Given the description of an element on the screen output the (x, y) to click on. 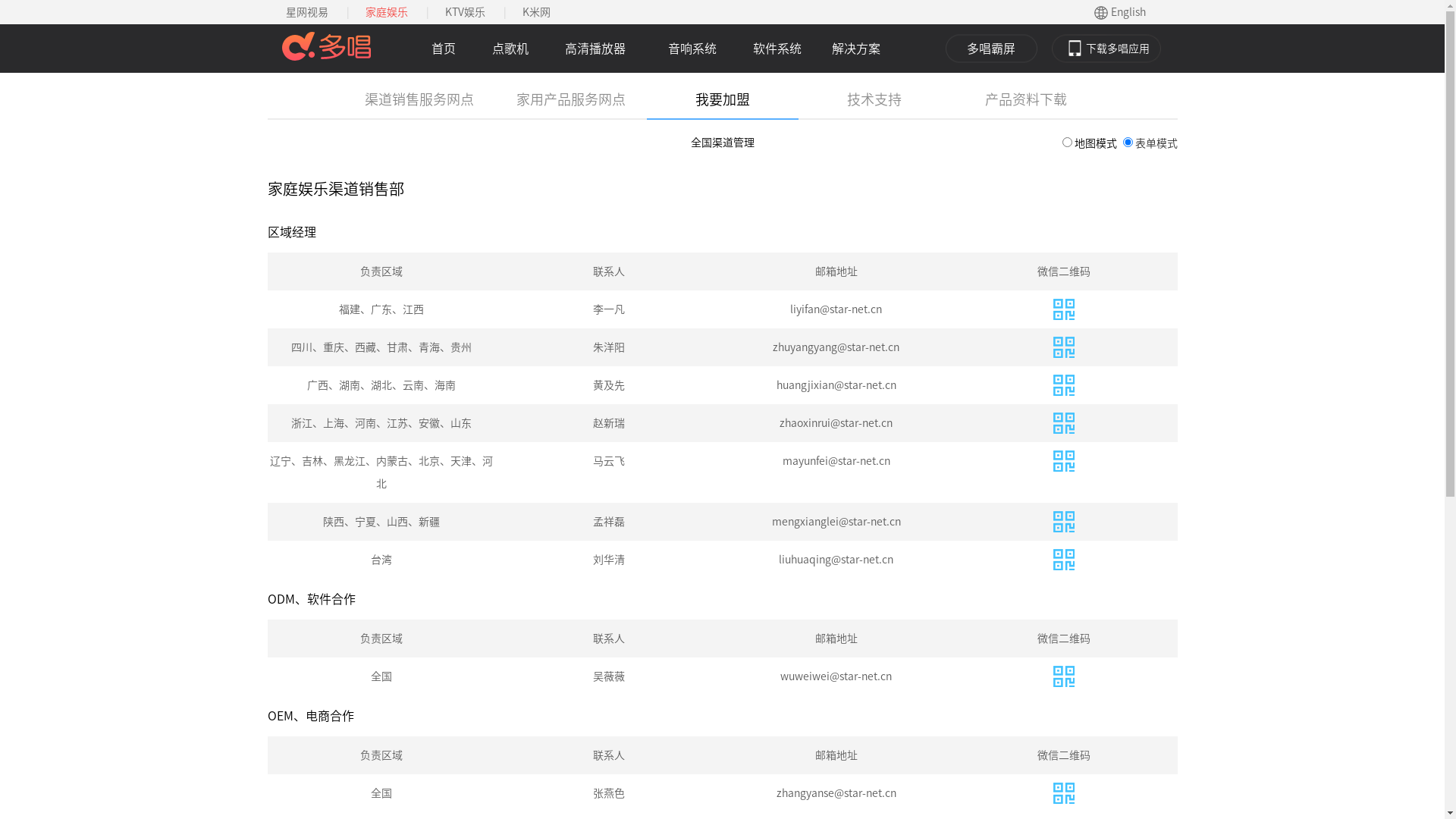
1 Element type: text (1066, 142)
English Element type: text (1127, 11)
2 Element type: text (1127, 142)
